Given the description of an element on the screen output the (x, y) to click on. 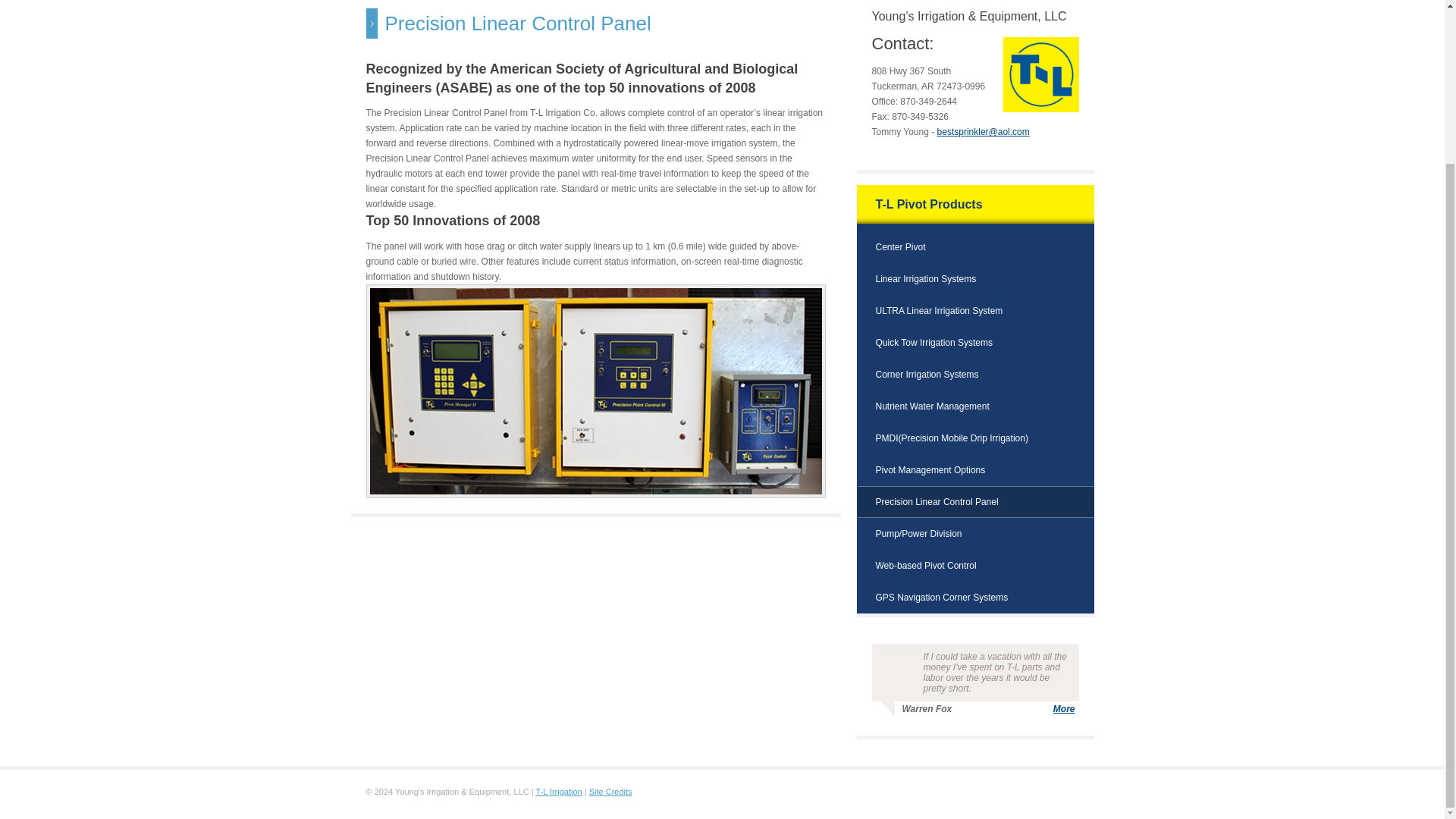
Quick Tow Irrigation Systems (933, 342)
Linear Irrigation Systems (925, 278)
Pivot Management Options (930, 470)
Nutrient Water Management (931, 406)
Quick Tow Irrigation Systems (933, 342)
T-L Pivot Products (928, 204)
Center Pivot (899, 246)
Corner Irrigation Systems (926, 374)
Center Pivot (899, 246)
Nutrient Water Management (931, 406)
